Given the description of an element on the screen output the (x, y) to click on. 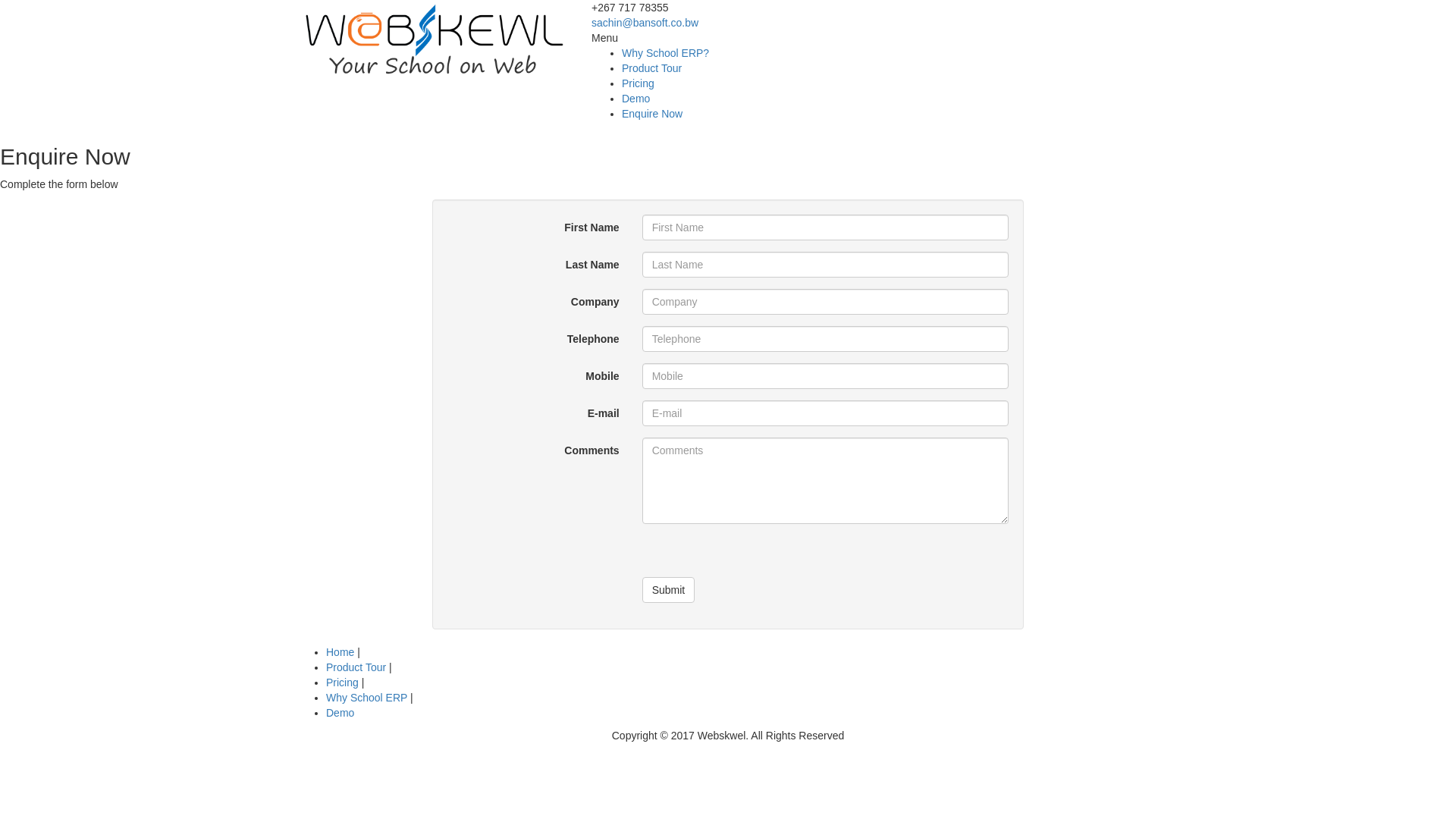
Product Tour Element type: text (651, 68)
Pricing Element type: text (637, 83)
Demo Element type: text (635, 98)
Demo Element type: text (340, 712)
Submit Element type: text (668, 589)
Home Element type: text (340, 652)
Product Tour Element type: text (355, 667)
Why School ERP? Element type: text (665, 53)
Pricing Element type: text (342, 682)
sachin@bansoft.co.bw Element type: text (644, 22)
Enquire Now Element type: text (651, 113)
Why School ERP Element type: text (368, 697)
